Given the description of an element on the screen output the (x, y) to click on. 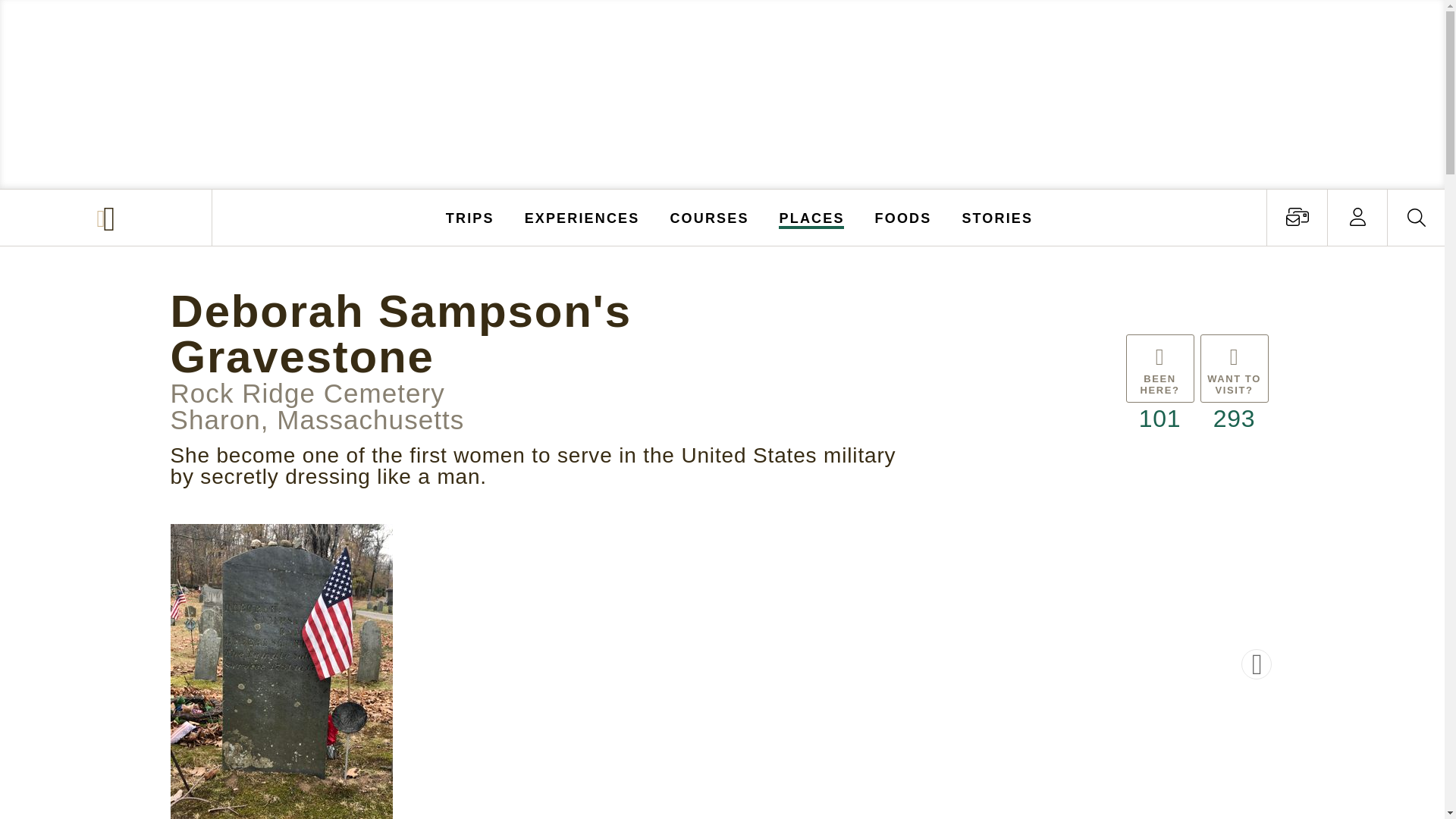
COURSES (707, 217)
PLACES (812, 217)
EXPERIENCES (582, 217)
TRIPS (469, 217)
